Given the description of an element on the screen output the (x, y) to click on. 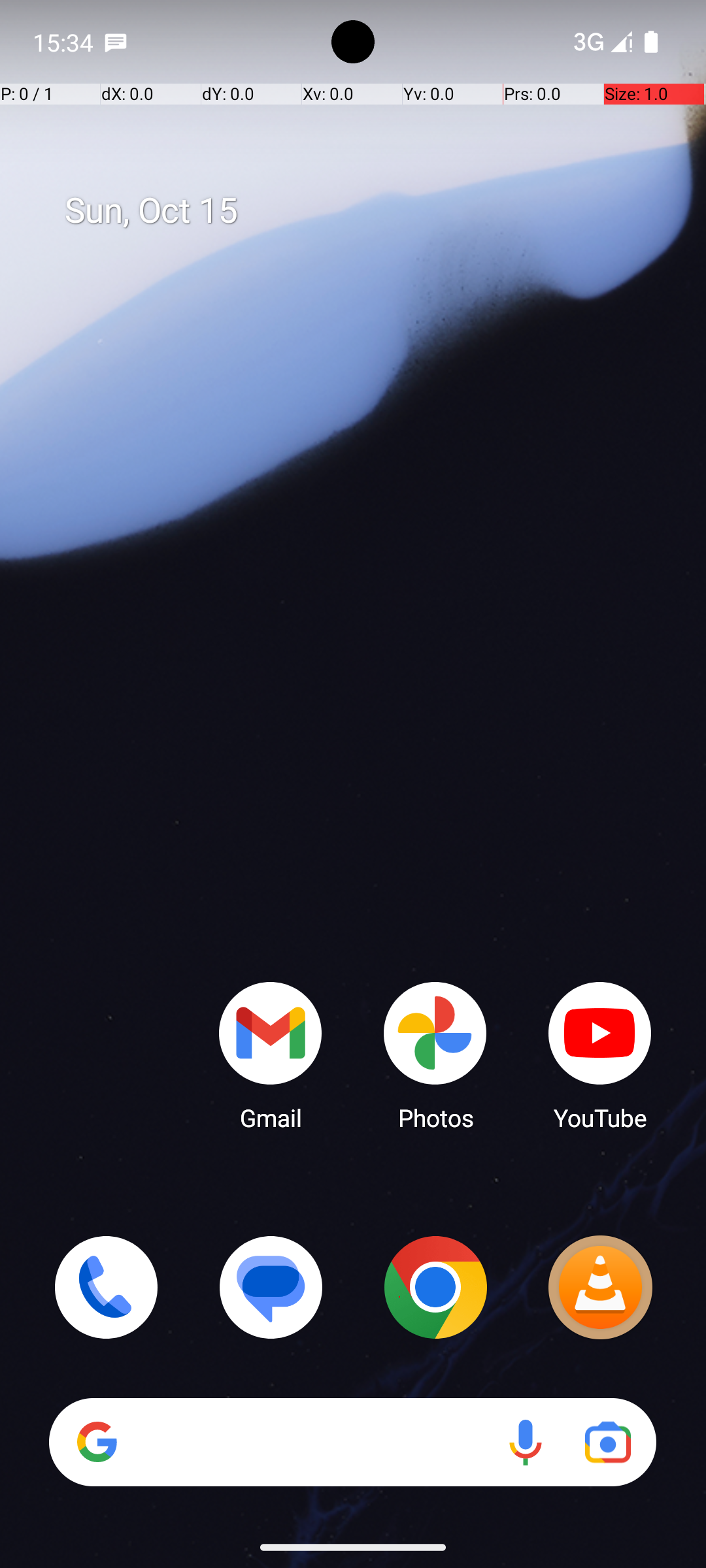
VLC Element type: android.widget.TextView (599, 1287)
